Given the description of an element on the screen output the (x, y) to click on. 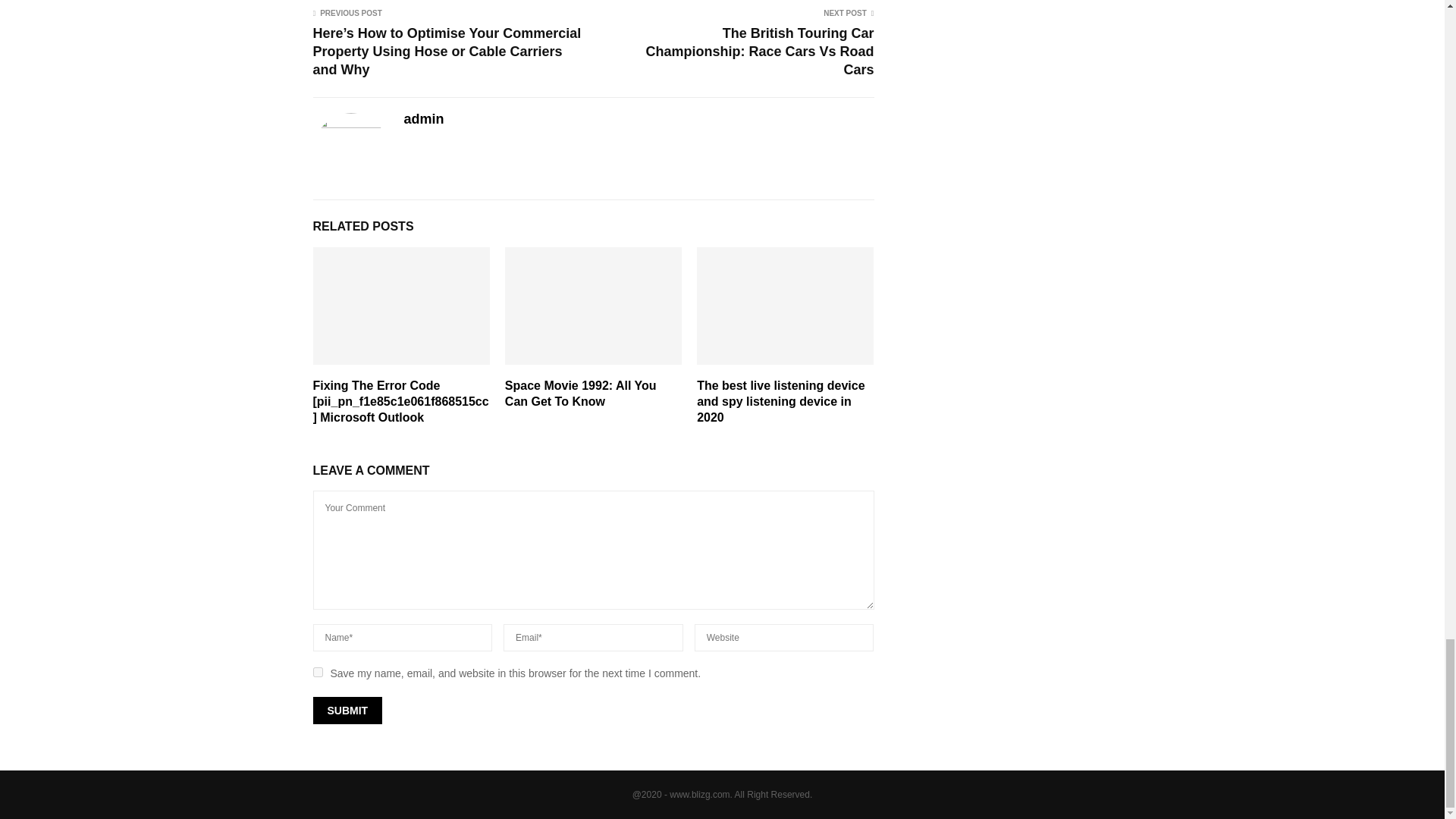
yes (317, 672)
Submit (347, 709)
